Given the description of an element on the screen output the (x, y) to click on. 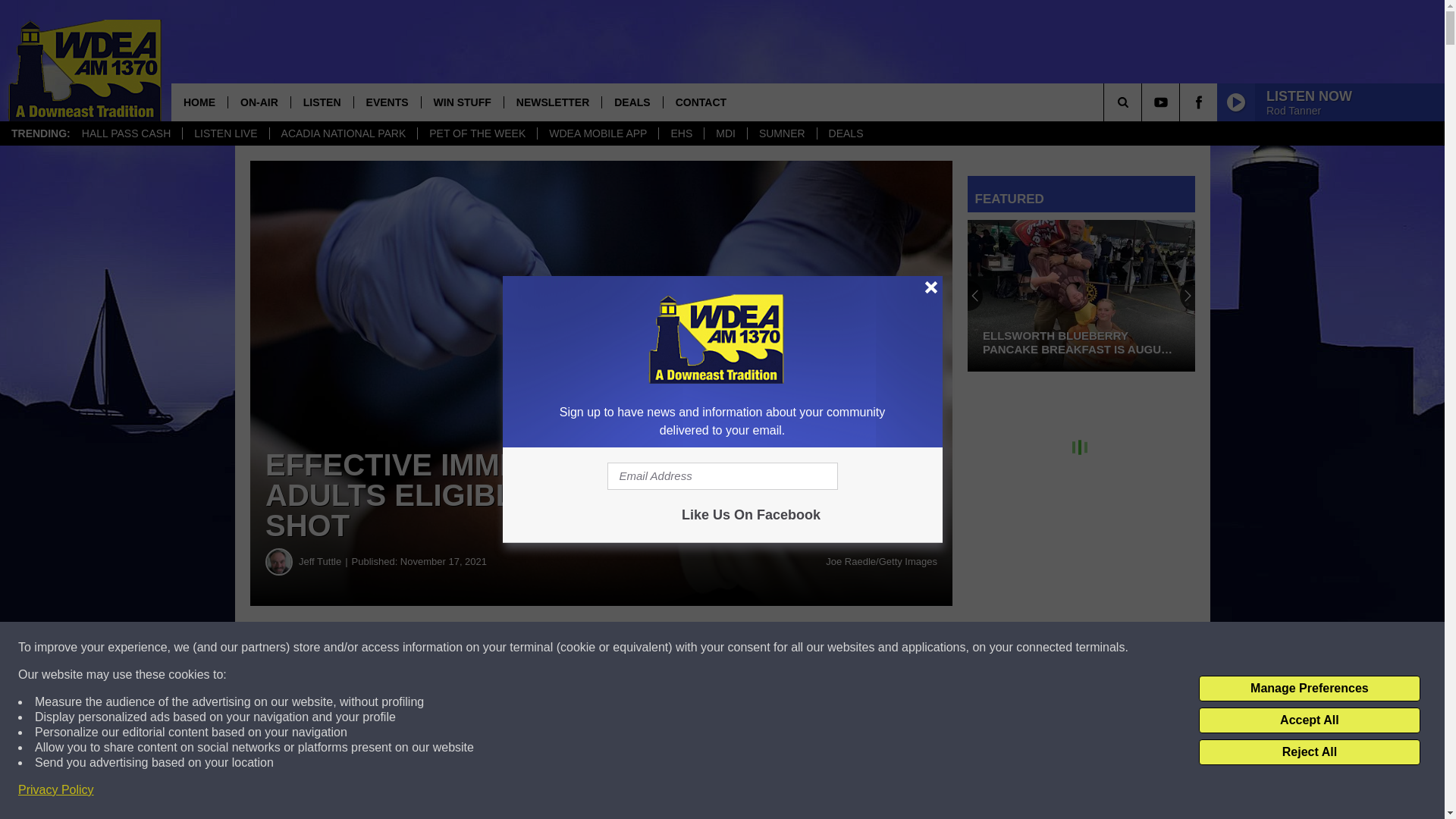
LISTEN (321, 102)
SEARCH (1144, 102)
PET OF THE WEEK (476, 133)
SEARCH (1144, 102)
SUMNER (781, 133)
NEWSLETTER (552, 102)
Privacy Policy (55, 789)
HALL PASS CASH (126, 133)
WDEA MOBILE APP (597, 133)
Reject All (1309, 751)
HOME (199, 102)
Manage Preferences (1309, 688)
EHS (680, 133)
DEALS (631, 102)
ACADIA NATIONAL PARK (343, 133)
